Given the description of an element on the screen output the (x, y) to click on. 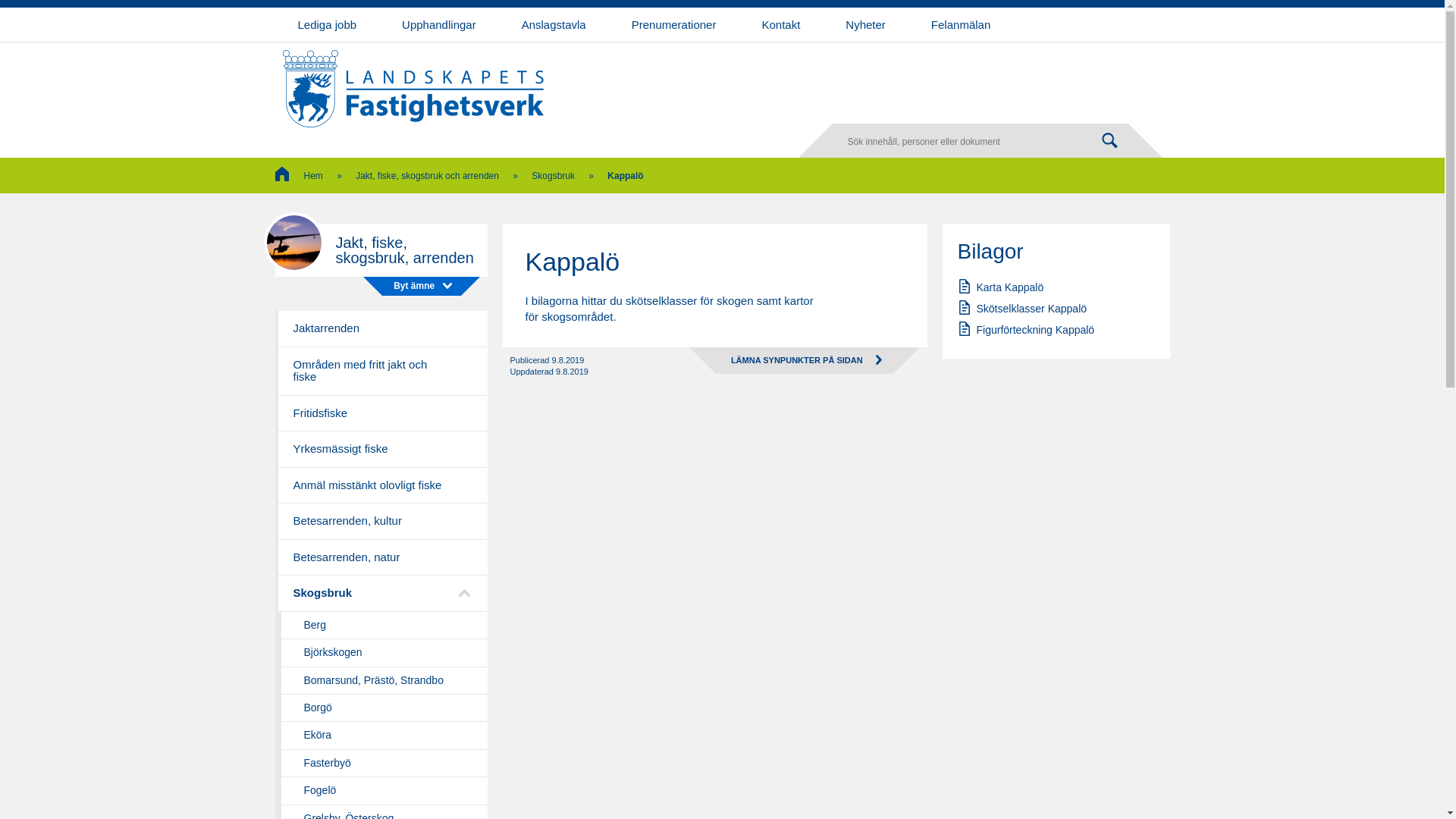
Hem Element type: text (298, 175)
Betesarrenden, natur Element type: text (380, 557)
Kontakt Element type: text (780, 24)
Jakt, fiske, skogsbruk, arrenden Element type: text (380, 249)
Berg Element type: text (380, 625)
j Element type: text (1109, 140)
Fritidsfiske Element type: text (380, 413)
Anslagstavla Element type: text (553, 24)
Jakt, fiske, skogsbruk och arrenden Element type: text (426, 175)
Upphandlingar Element type: text (438, 24)
Skogsbruk Element type: text (380, 593)
Jaktarrenden Element type: text (380, 328)
Prenumerationer Element type: text (673, 24)
Lediga jobb Element type: text (326, 24)
Skogsbruk Element type: text (552, 175)
Betesarrenden, kultur Element type: text (380, 521)
Nyheter Element type: text (865, 24)
